Given the description of an element on the screen output the (x, y) to click on. 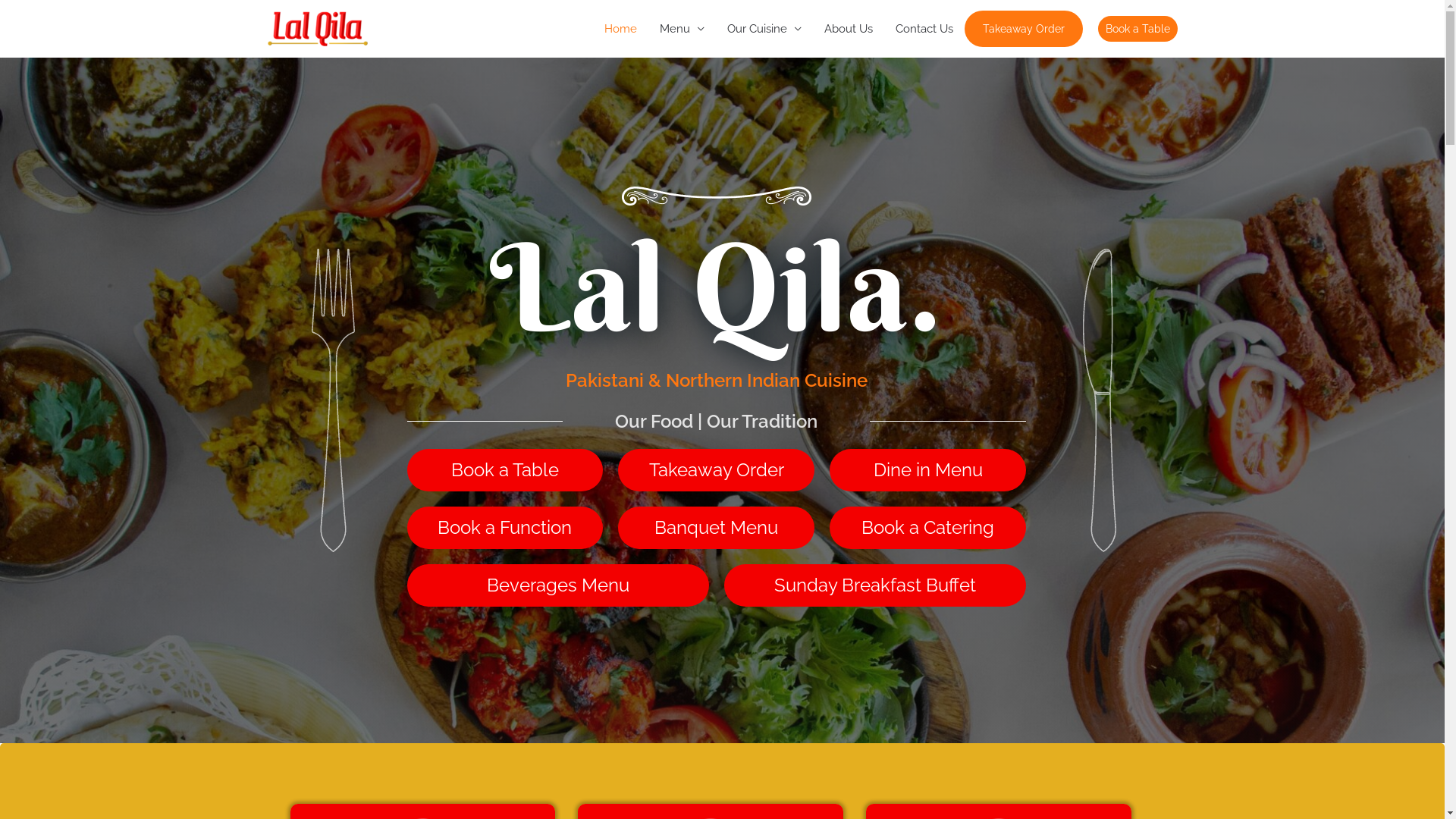
Beverages Menu Element type: text (557, 585)
Book a Table Element type: text (1137, 28)
Sunday Breakfast Buffet Element type: text (875, 585)
Menu Element type: text (681, 28)
Book a Table Element type: text (504, 469)
Banquet Menu Element type: text (716, 527)
About Us Element type: text (848, 28)
Dine in Menu Element type: text (927, 469)
Home Element type: text (620, 28)
Our Cuisine Element type: text (763, 28)
Takeaway Order Element type: text (1023, 28)
Book a Function Element type: text (504, 527)
Takeaway Order Element type: text (716, 469)
Contact Us Element type: text (924, 28)
Book a Catering Element type: text (927, 527)
